Given the description of an element on the screen output the (x, y) to click on. 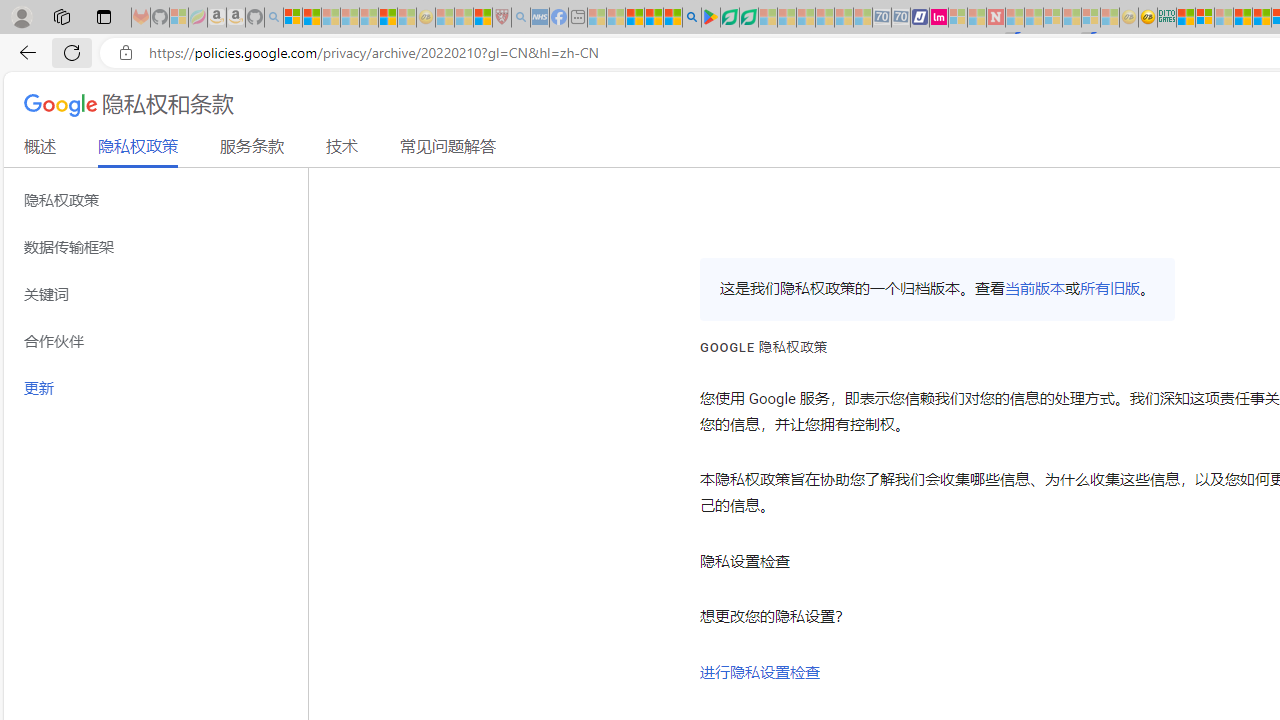
Pets - MSN (654, 17)
Microsoft Word - consumer-privacy address update 2.2021 (748, 17)
